Given the description of an element on the screen output the (x, y) to click on. 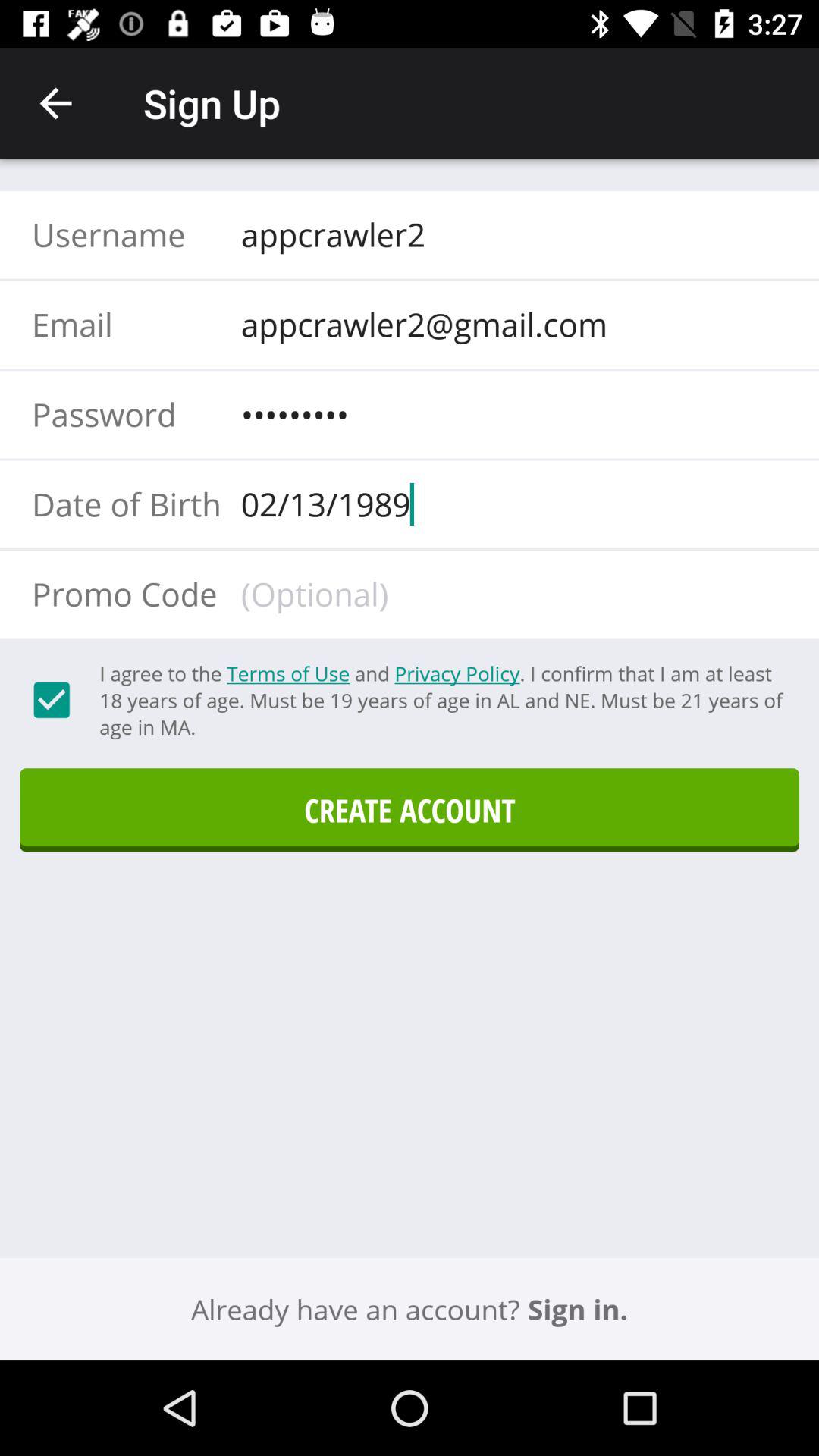
press create account icon (409, 809)
